Given the description of an element on the screen output the (x, y) to click on. 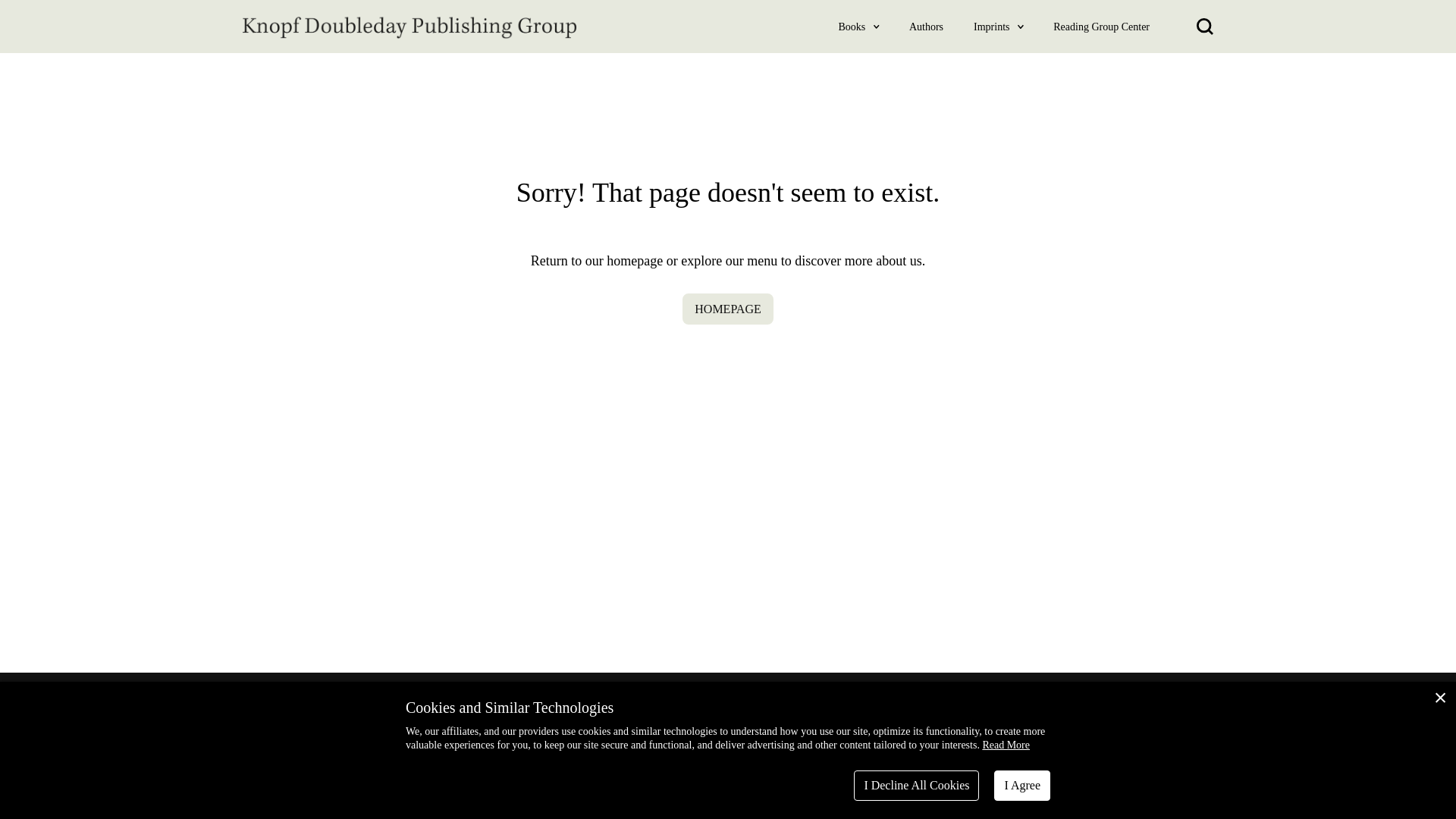
HOMEPAGE (727, 308)
Authors (925, 26)
Reading Group Center (1101, 26)
Books (852, 26)
Imprints (992, 26)
